Given the description of an element on the screen output the (x, y) to click on. 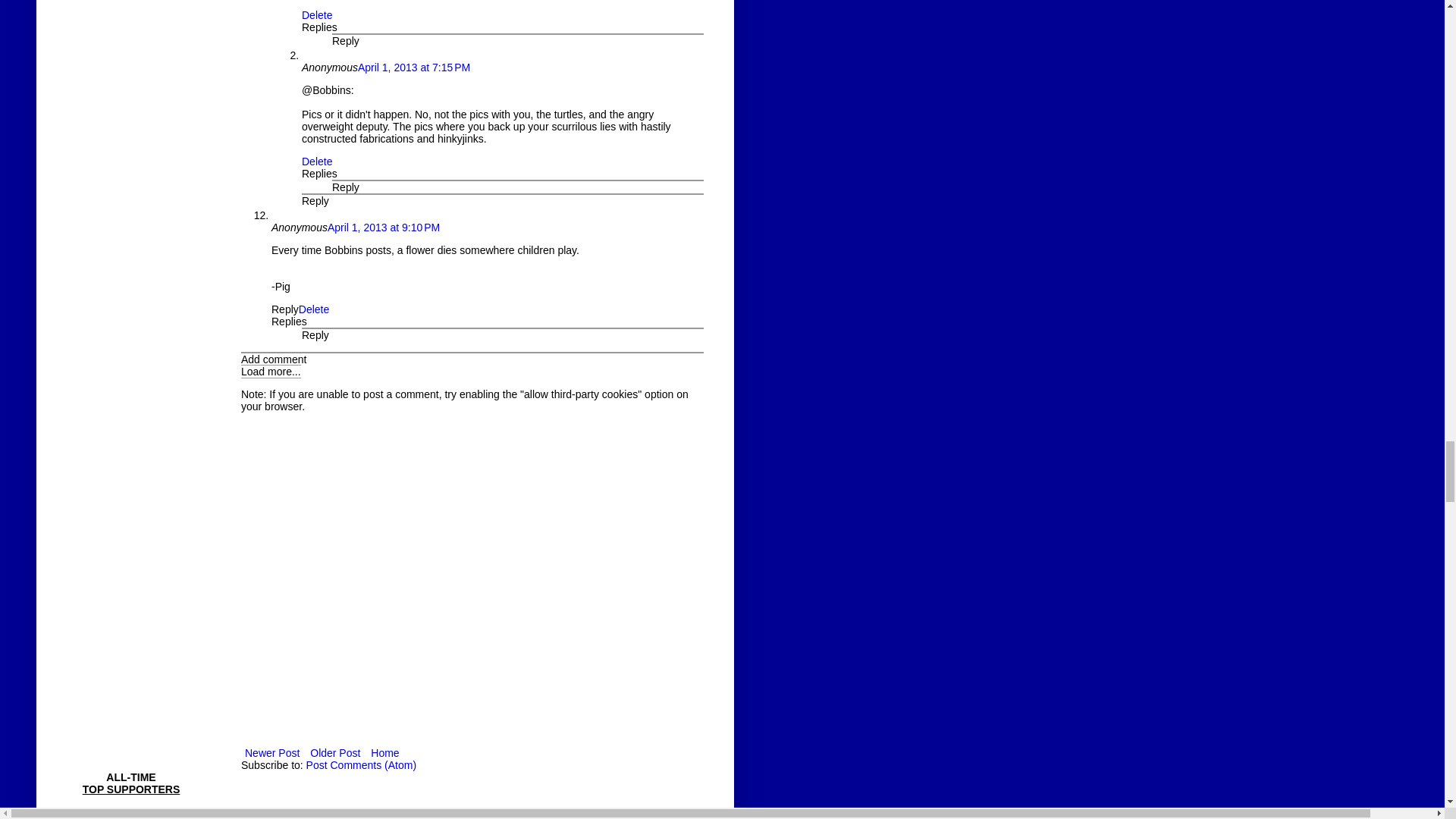
Older Post (334, 752)
Newer Post (271, 752)
